Given the description of an element on the screen output the (x, y) to click on. 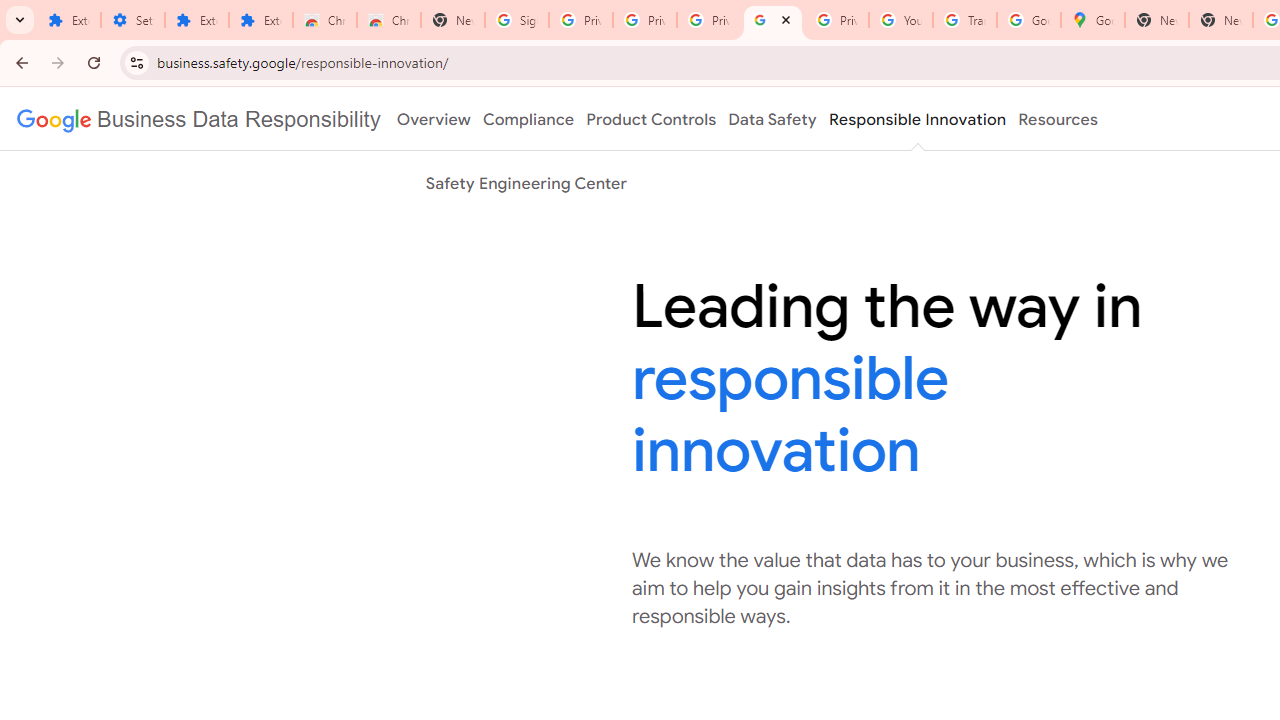
Data Safety (772, 119)
Product Controls (651, 119)
Forward (57, 62)
YouTube (901, 20)
